Given the description of an element on the screen output the (x, y) to click on. 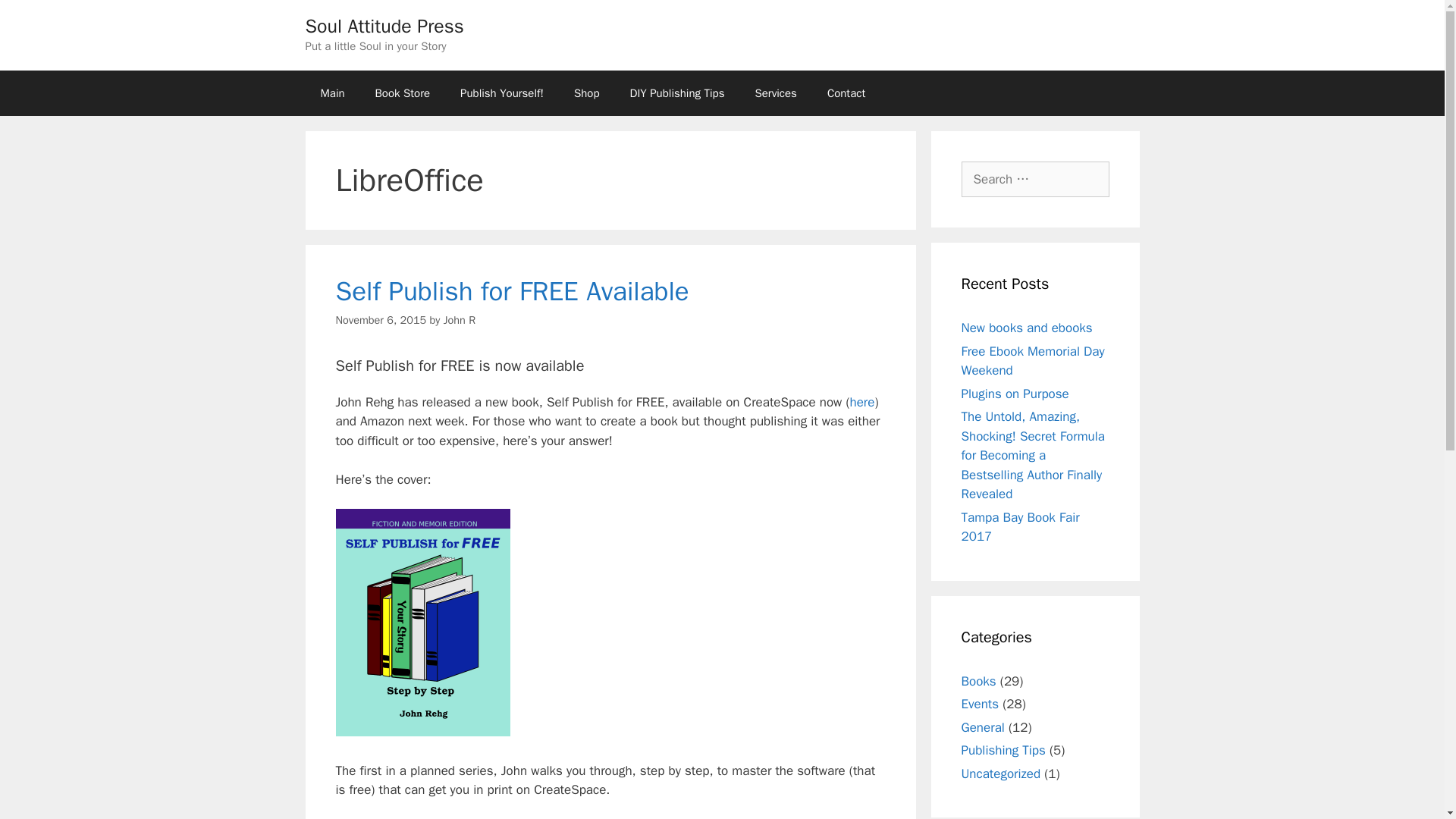
Books (977, 681)
Search (35, 18)
DIY Publishing Tips (676, 92)
Main (331, 92)
Search for: (1034, 178)
Events (979, 703)
here (861, 401)
Publish Yourself! (502, 92)
Soul Attitude Press (383, 25)
Free Ebook Memorial Day Weekend (1032, 360)
Tampa Bay Book Fair 2017 (1020, 527)
John R (460, 319)
Self Publish for FREE Available (511, 290)
Book Store (402, 92)
